Given the description of an element on the screen output the (x, y) to click on. 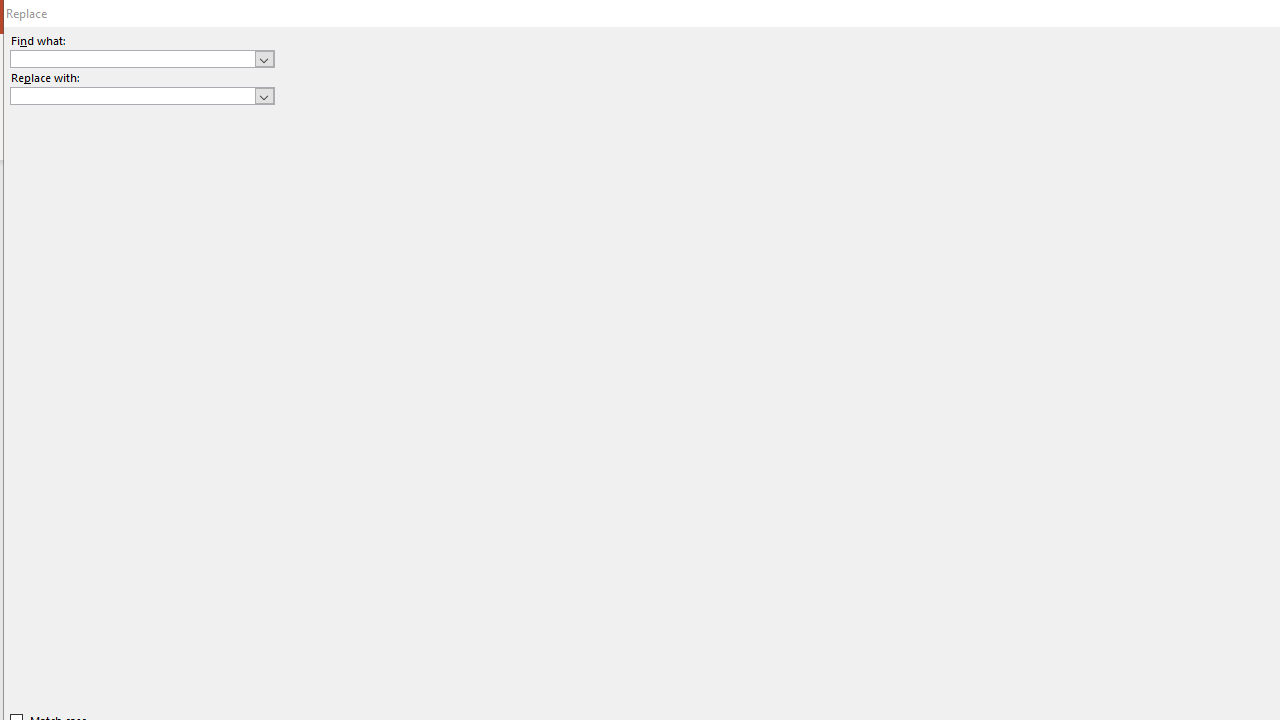
Picture Format (834, 48)
Find what (132, 58)
